Given the description of an element on the screen output the (x, y) to click on. 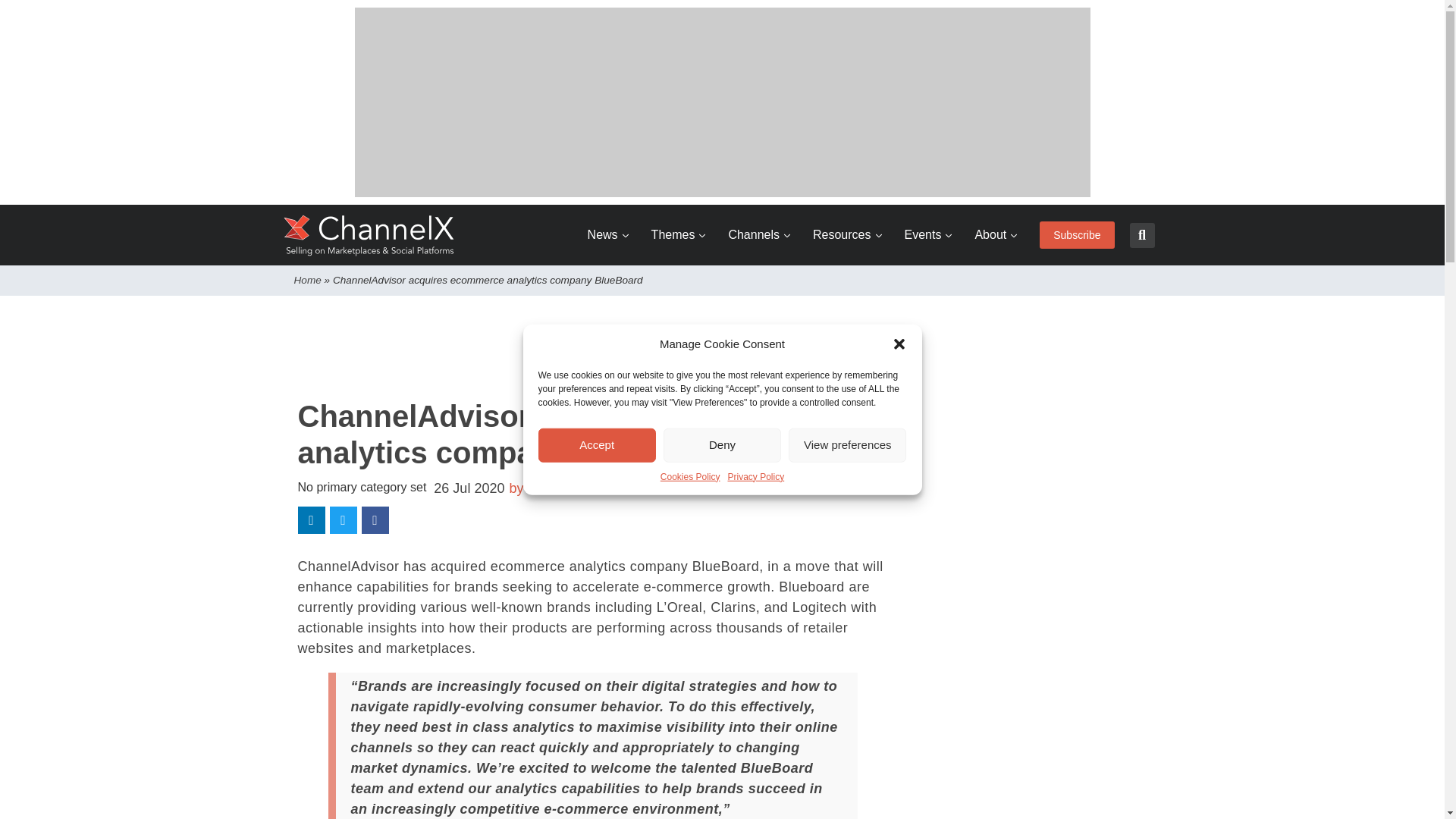
Cookies Policy (690, 476)
View preferences (847, 444)
Privacy Policy (756, 476)
Deny (721, 444)
News (607, 234)
ChannelX Home Page (369, 234)
Channels (758, 234)
Accept (597, 444)
Themes (678, 234)
